Given the description of an element on the screen output the (x, y) to click on. 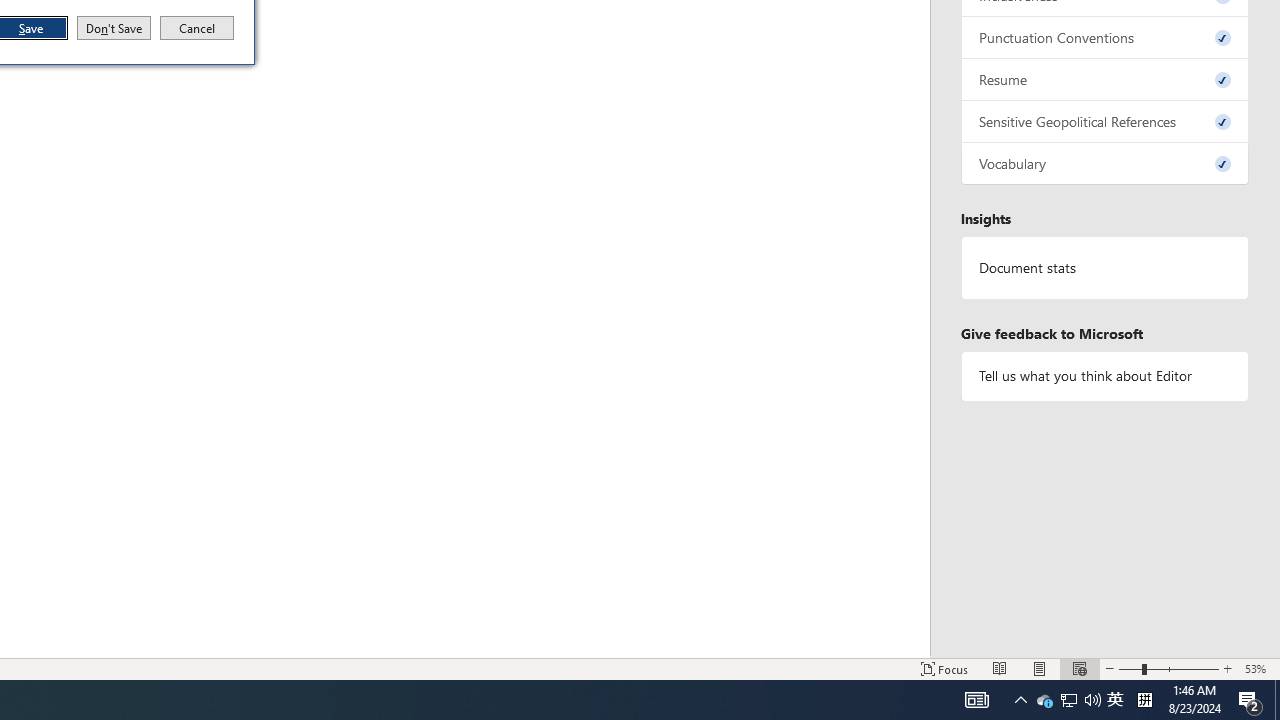
Vocabulary, 0 issues. Press space or enter to review items. (1105, 163)
Zoom 53% (1258, 668)
